Given the description of an element on the screen output the (x, y) to click on. 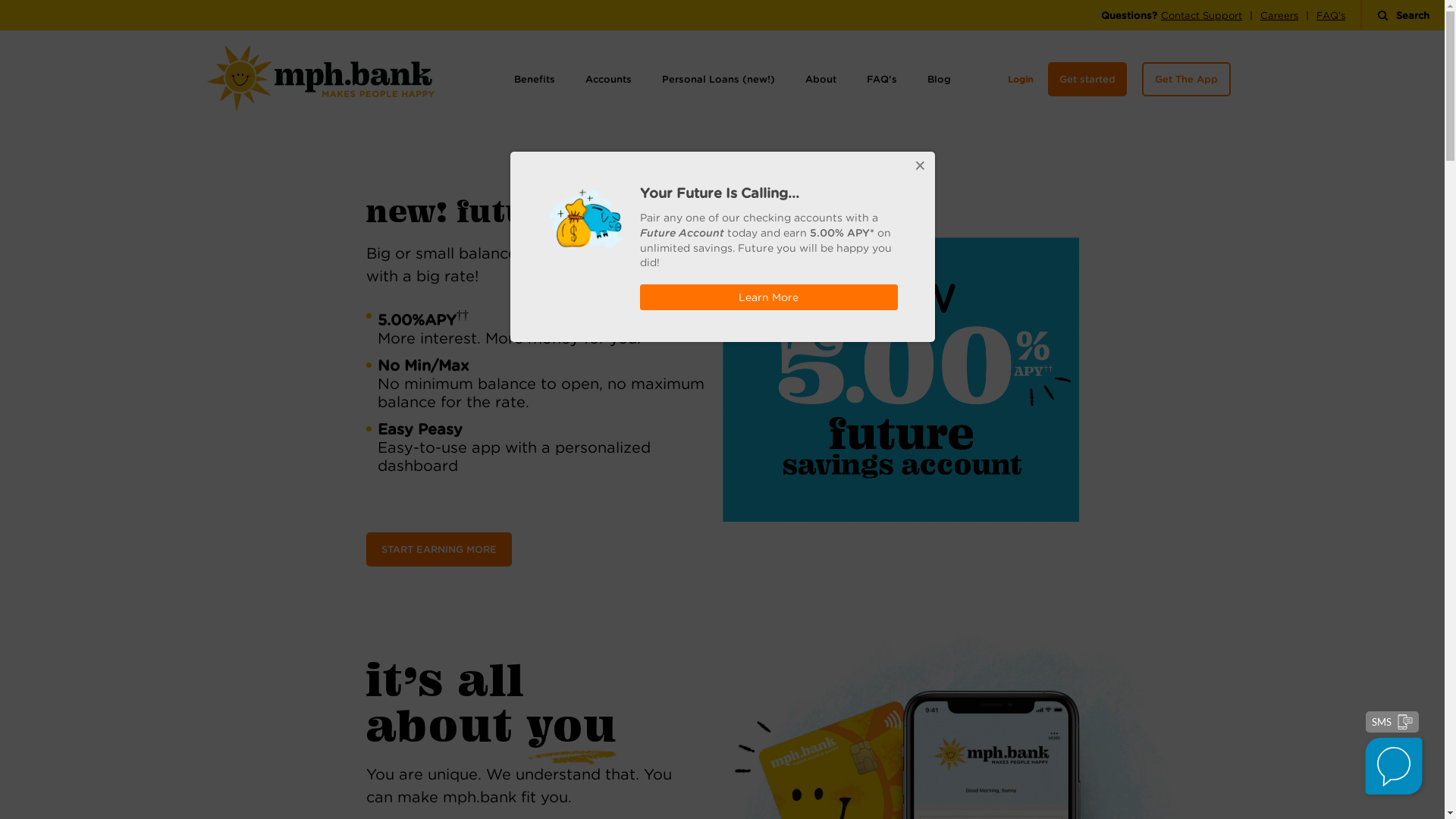
open chat window Element type: hover (1394, 767)
About Element type: text (820, 79)
FAQ's Element type: text (1330, 14)
Learn More Element type: text (768, 297)
Contact Support Element type: text (1201, 14)
SMS Element type: text (1391, 721)
Careers Element type: text (1279, 14)
Blog Element type: text (938, 79)
Accounts Element type: text (608, 79)
START EARNING MORE Element type: text (438, 549)
Login Element type: text (1019, 78)
Get The App Element type: text (1186, 79)
Search Element type: text (1402, 15)
Personal Loans (new!) Element type: text (717, 79)
Get started Element type: text (1087, 79)
Benefits Element type: text (534, 79)
